Given the description of an element on the screen output the (x, y) to click on. 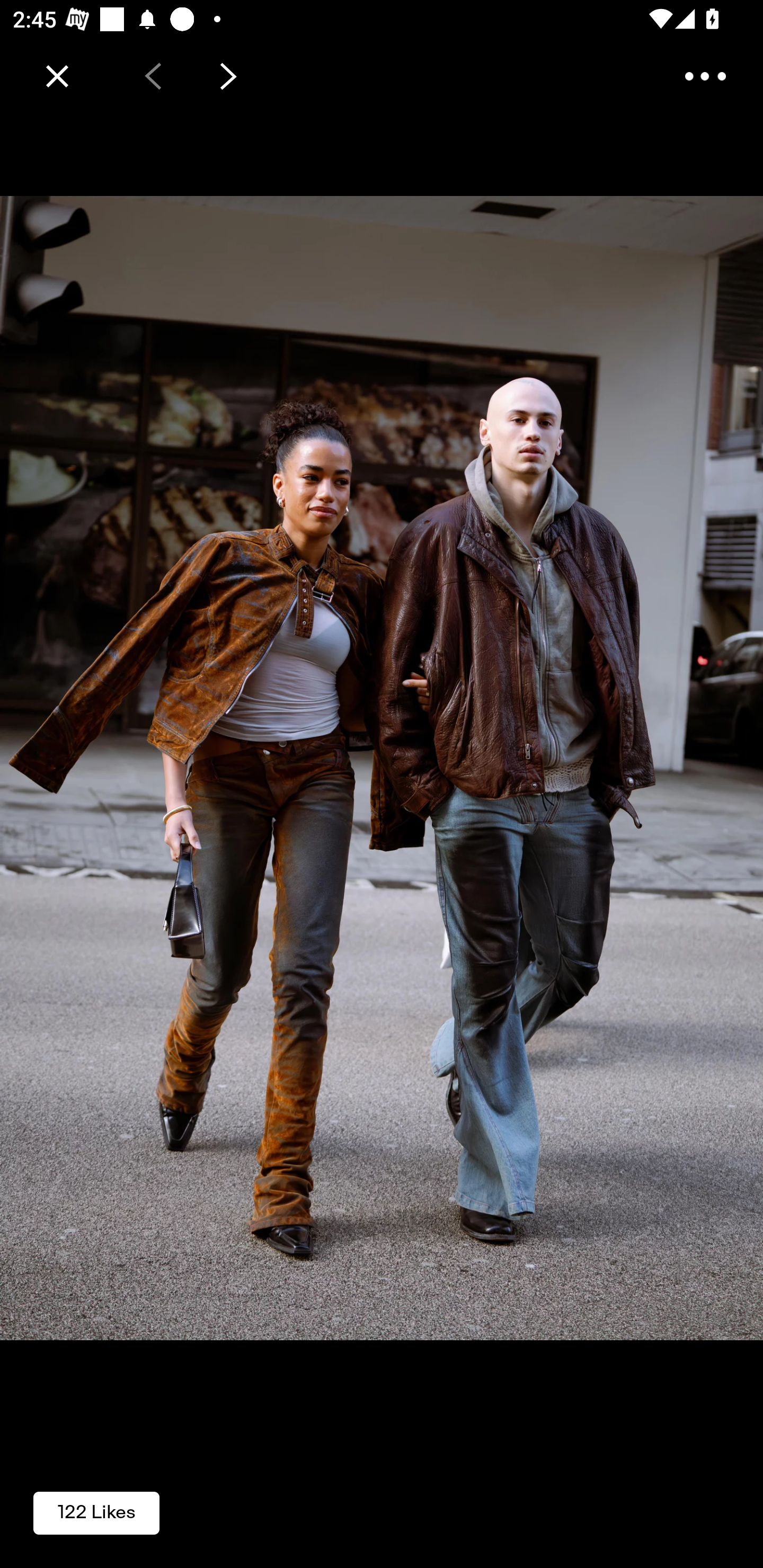
122 Likes (96, 1512)
